Given the description of an element on the screen output the (x, y) to click on. 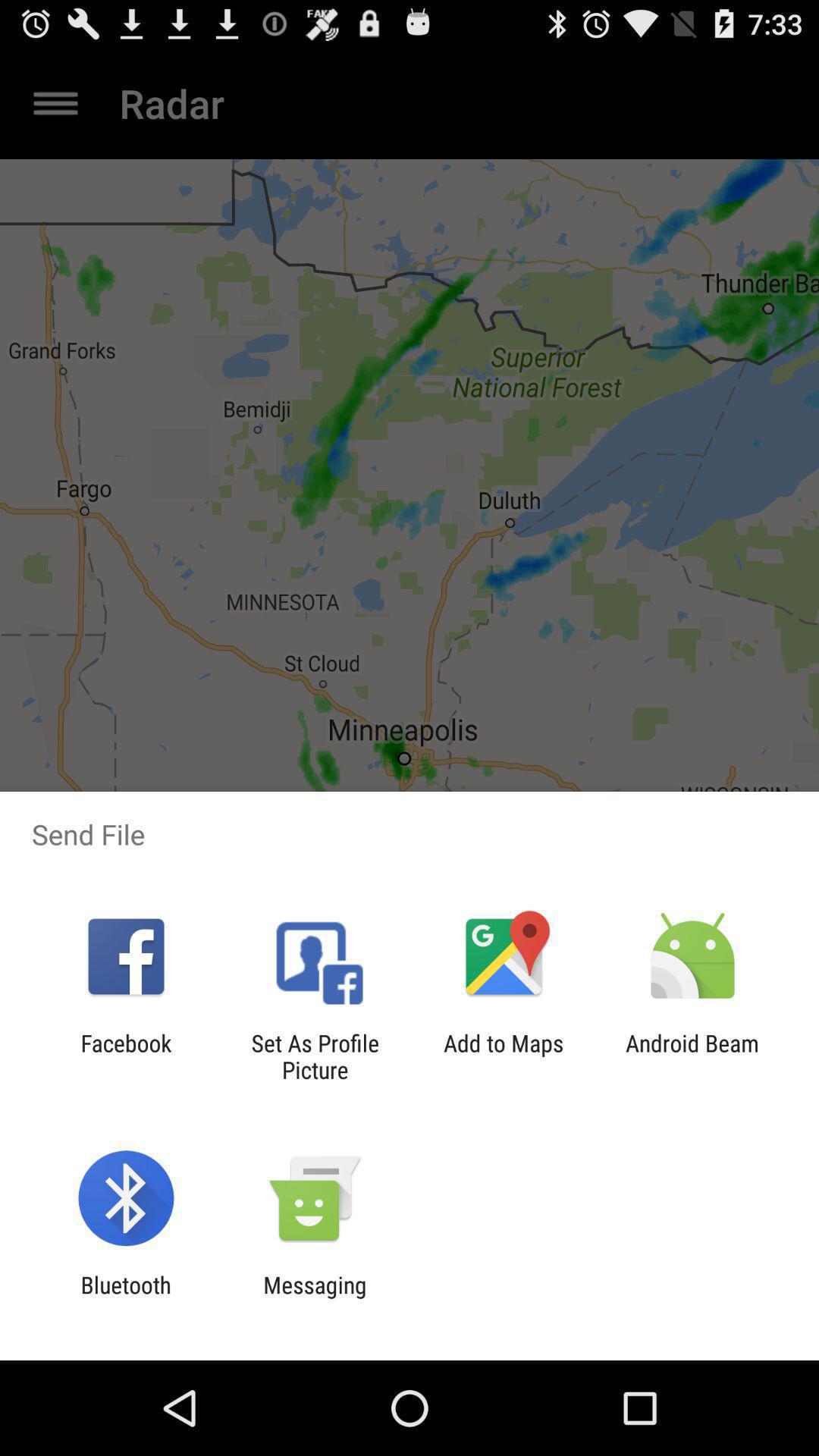
select android beam app (692, 1056)
